Given the description of an element on the screen output the (x, y) to click on. 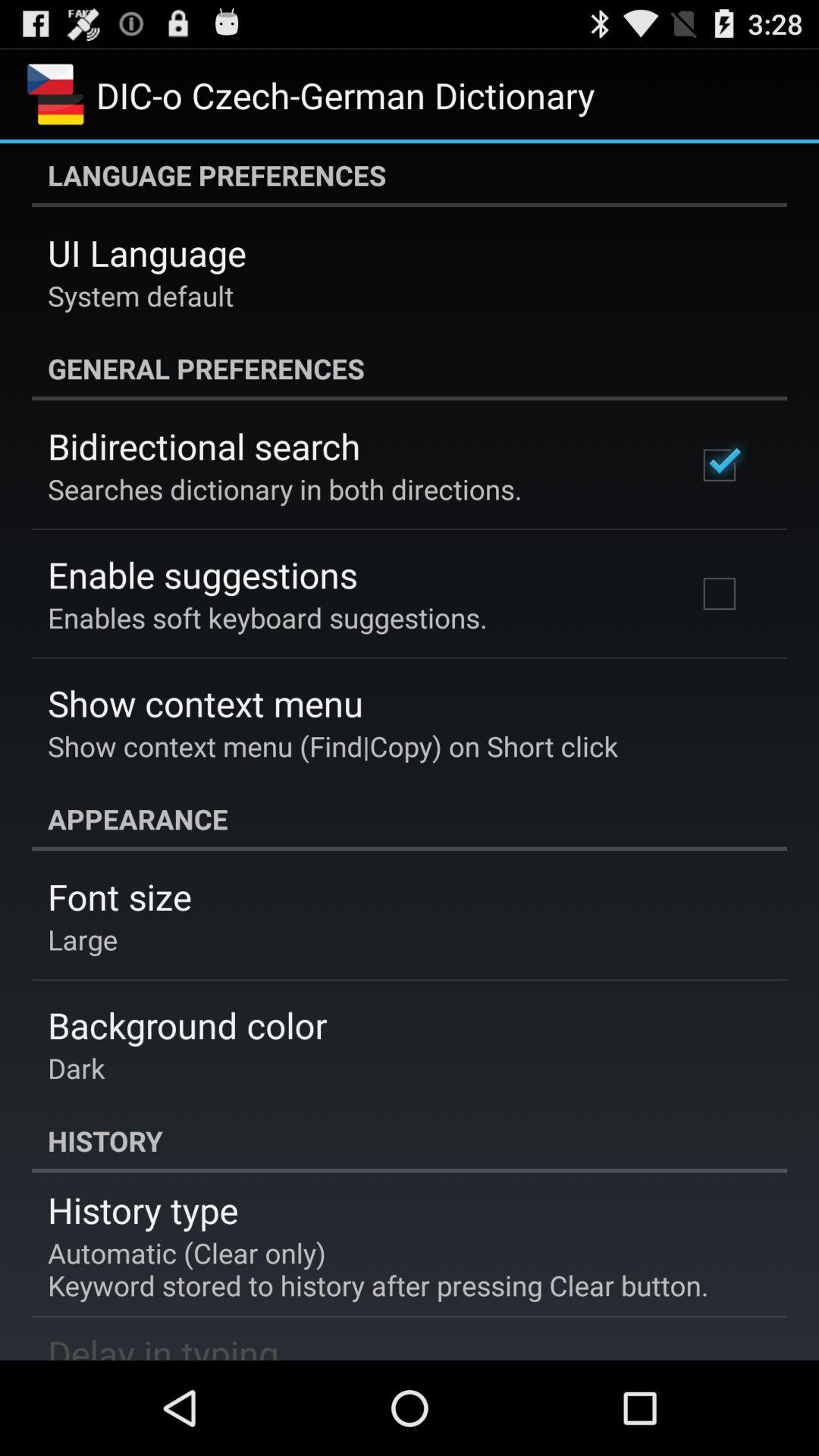
flip to appearance icon (409, 818)
